Given the description of an element on the screen output the (x, y) to click on. 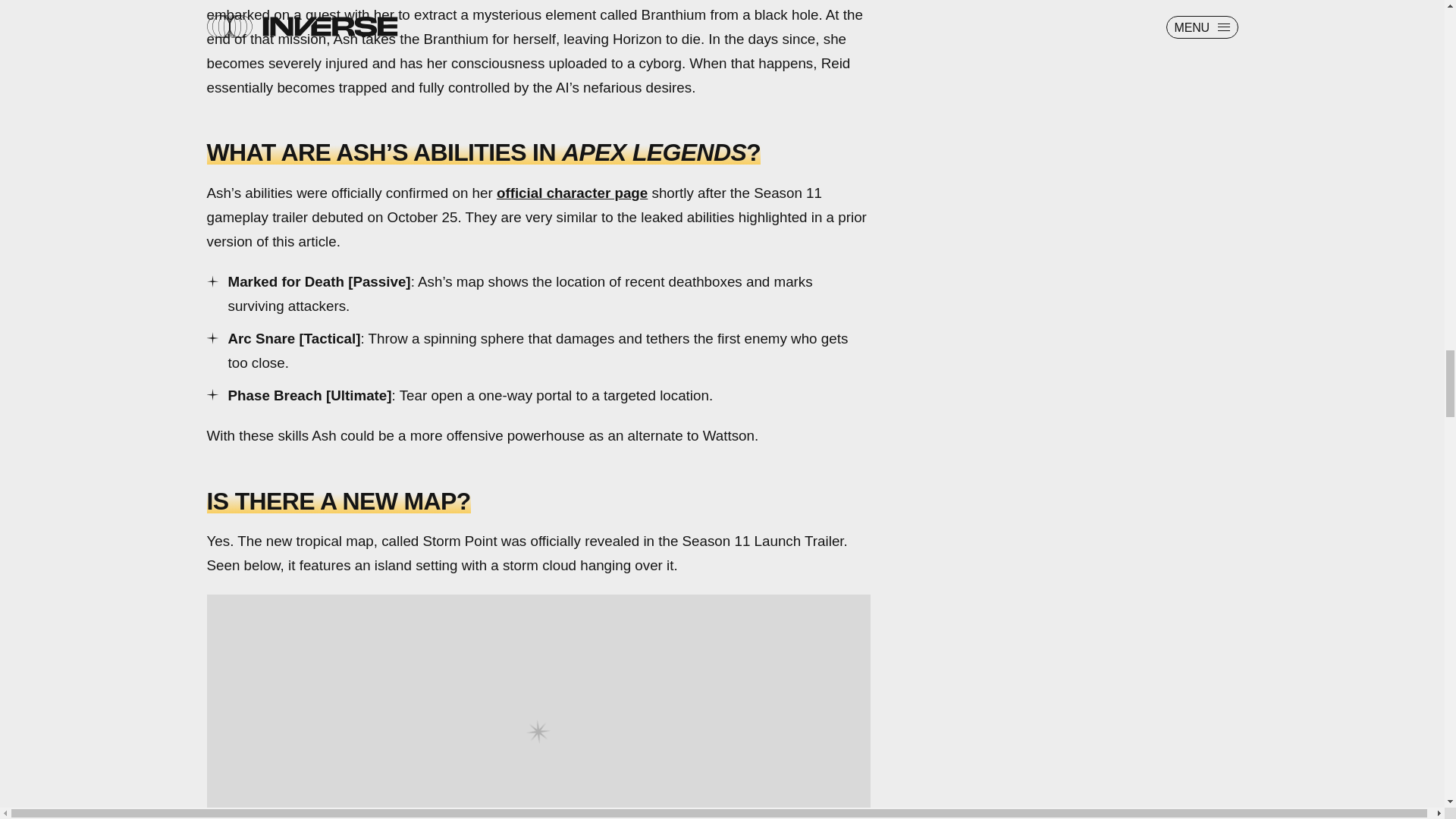
official character page (571, 192)
